Given the description of an element on the screen output the (x, y) to click on. 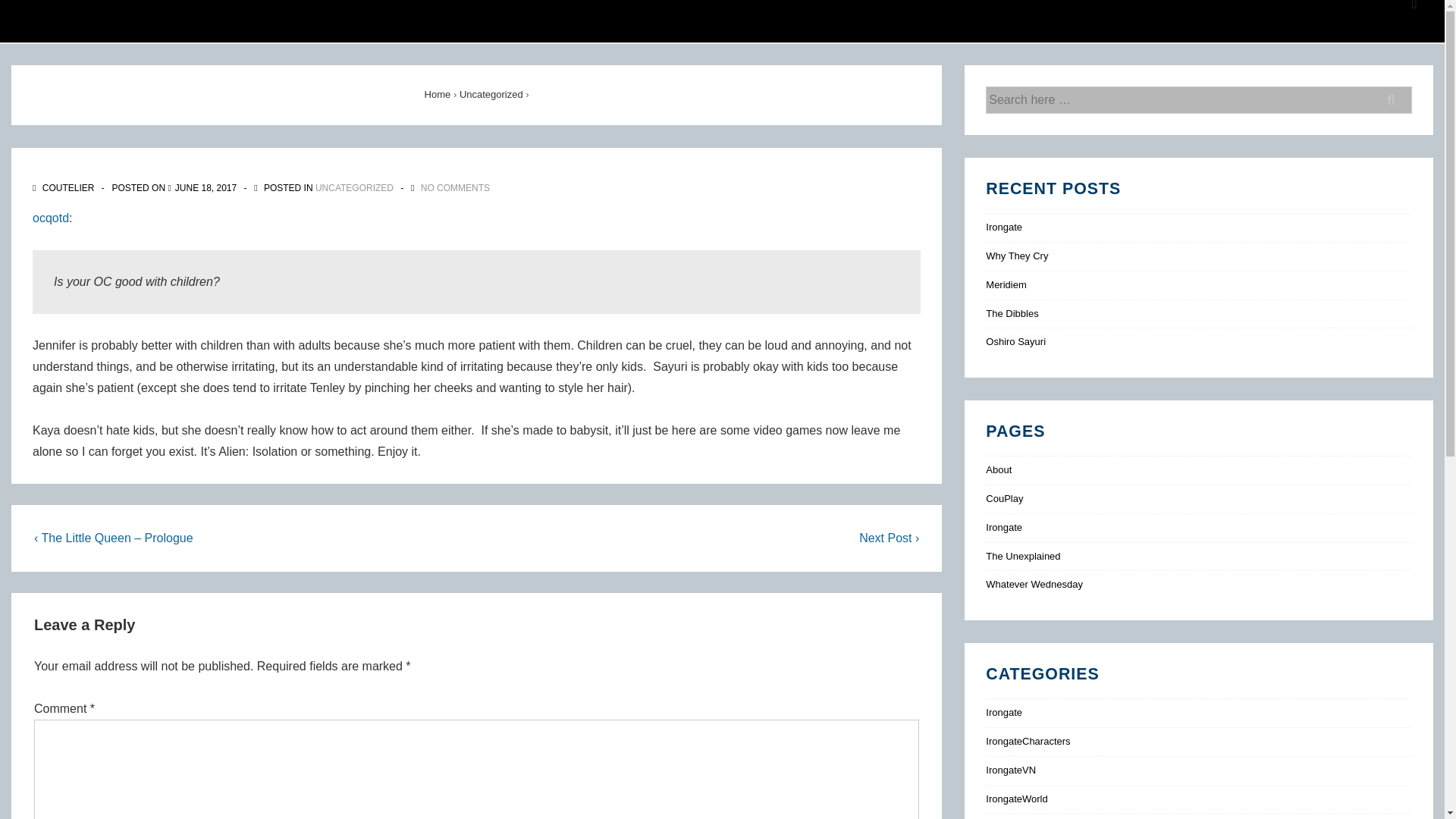
Meridiem (1005, 284)
Irongate (1003, 527)
COUTELIER (64, 187)
Why They Cry (1016, 255)
NO COMMENTS (454, 187)
Home (438, 93)
The Dibbles (1011, 313)
IrongateCharacters (1027, 740)
Uncategorized (491, 93)
Whatever Wednesday (1034, 583)
JUNE 18, 2017 (204, 187)
Oshiro Sayuri (1015, 341)
The Unexplained (1022, 555)
IrongateWorld (1015, 798)
IrongateVN (1010, 769)
